Given the description of an element on the screen output the (x, y) to click on. 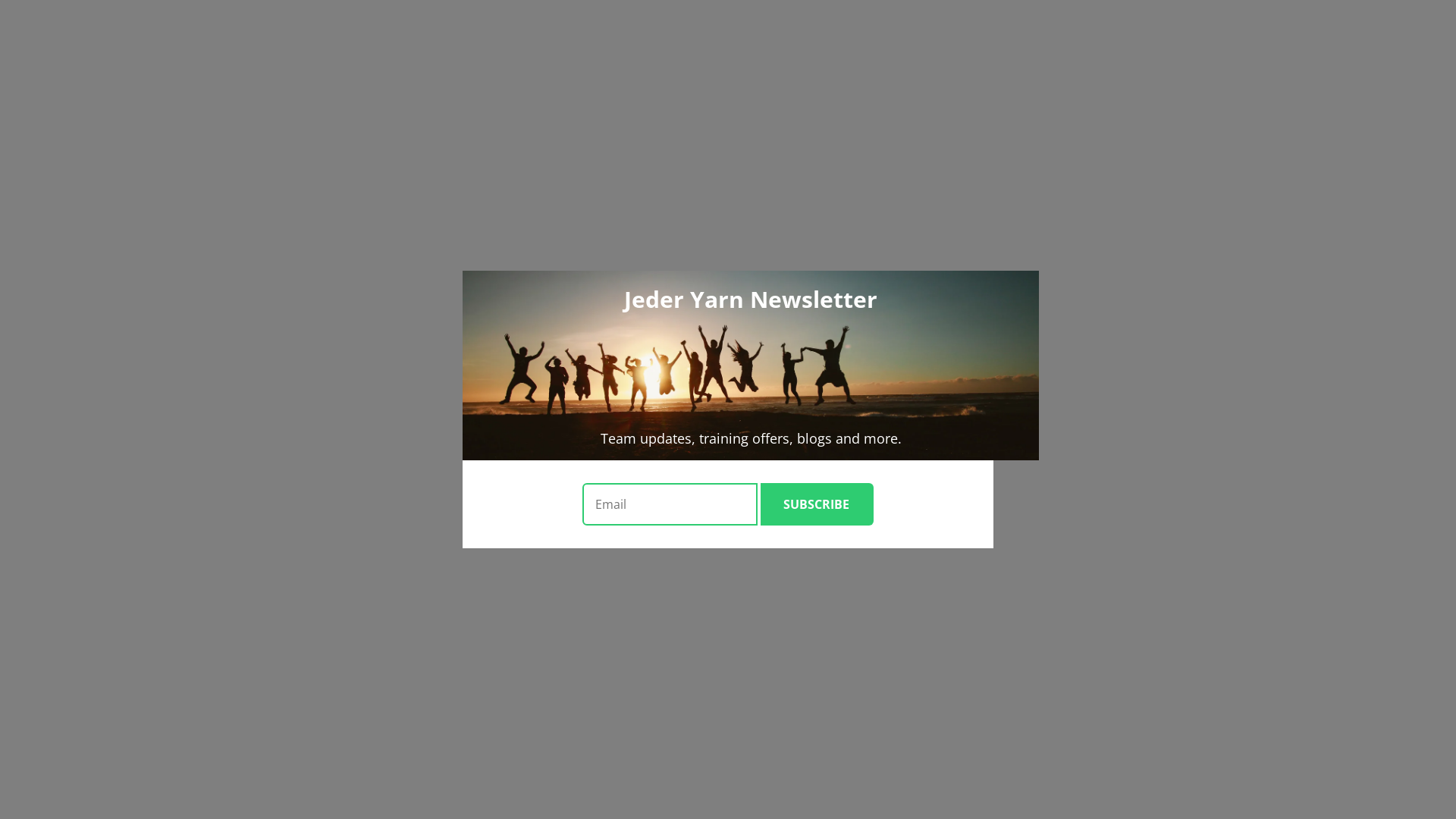
ABCD Asia Pacific Network Element type: text (136, 621)
Home Element type: text (50, 172)
Gatherings Element type: text (92, 390)
Yes23 Statement Element type: text (106, 349)
ABCD & Community Building Element type: text (142, 580)
Articles Element type: text (85, 431)
About Element type: text (51, 308)
Roving Listeners Element type: text (108, 593)
What We Offer Element type: text (73, 525)
ABCD & Community Building Element type: text (142, 240)
Training & Workshops Element type: text (121, 199)
Our Reflect Reconciliation Action Plan Element type: text (161, 675)
Becoming a Member Element type: text (117, 322)
Upcoming Events Element type: text (109, 634)
Governance Element type: text (95, 363)
Tools Element type: text (79, 784)
Home Element type: text (50, 511)
YouTube page opens in new window Element type: text (36, 27)
Our Reflect Reconciliation Action Plan Element type: text (161, 335)
About Element type: text (51, 648)
Articles Element type: text (85, 771)
The Unconference & Big Convos Element type: text (147, 267)
COVID-19 Element type: text (93, 472)
Go! Element type: text (20, 73)
Reports Element type: text (85, 716)
Newsletters Element type: text (95, 798)
Tools Element type: text (79, 445)
Yes23 Statement Element type: text (106, 689)
Search form Element type: hover (73, 57)
Ability Builders Element type: text (105, 566)
Reports Element type: text (85, 376)
Blogs Element type: text (80, 417)
Roving Listeners Element type: text (108, 253)
Upcoming Events Element type: text (109, 294)
ABCD Asia Pacific Network Element type: text (136, 281)
What We Offer Element type: text (73, 185)
Join Jeder Element type: text (36, 12)
Gatherings Element type: text (92, 730)
Governance Element type: text (95, 702)
Contact Element type: text (55, 486)
Resources Element type: text (61, 743)
Newsletters Element type: text (95, 458)
Blogs Element type: text (80, 757)
NDIS Element type: text (80, 213)
Resources Element type: text (61, 404)
Ability Builders Element type: text (105, 226)
Twitter page opens in new window Element type: text (24, 27)
Facebook page opens in new window Element type: text (12, 27)
Linkedin page opens in new window Element type: text (48, 27)
Training & Workshops Element type: text (121, 539)
Skip to content Element type: text (5, 5)
Becoming a Member Element type: text (117, 661)
The Unconference & Big Convos Element type: text (147, 607)
NDIS Element type: text (80, 552)
